Given the description of an element on the screen output the (x, y) to click on. 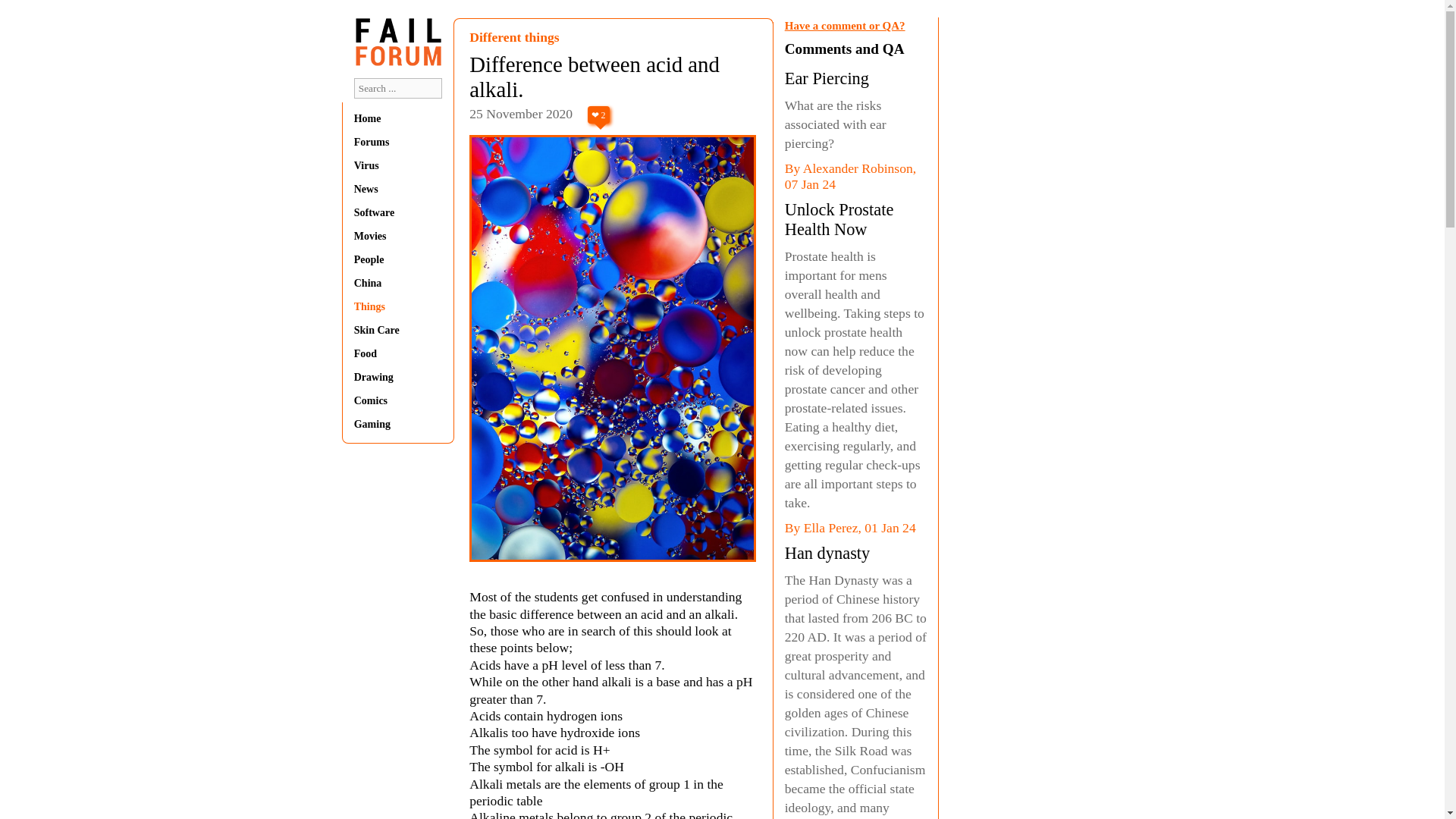
Home (397, 119)
Virus (397, 165)
Software (397, 213)
Things (397, 306)
Comics (397, 400)
Drawing (397, 377)
Have a comment or QA? (844, 25)
News (397, 189)
Food (397, 354)
Movies (397, 236)
